Given the description of an element on the screen output the (x, y) to click on. 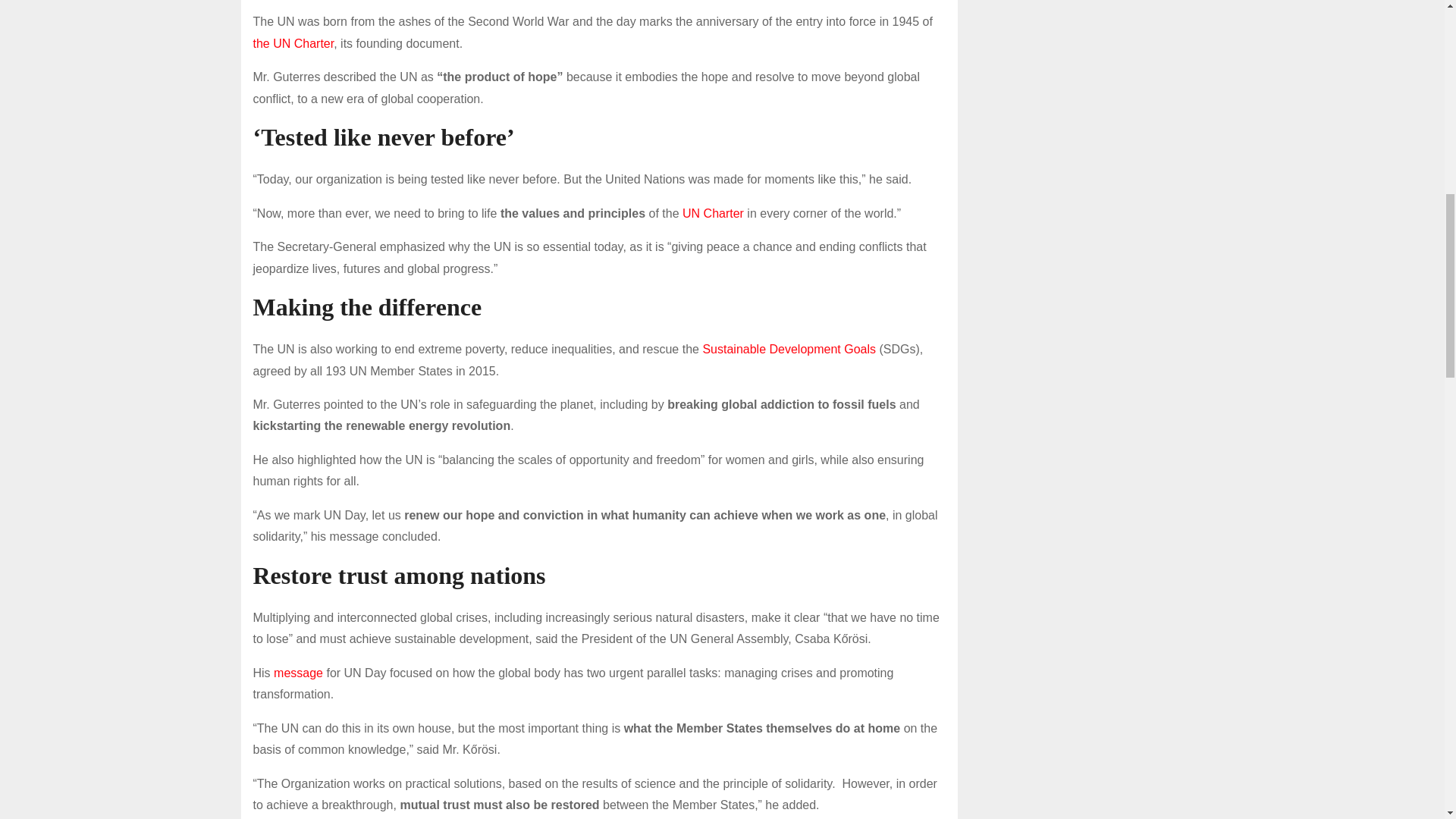
message (299, 672)
UN Charter (713, 213)
the UN Charter (293, 42)
Sustainable Development Goals (788, 349)
